Given the description of an element on the screen output the (x, y) to click on. 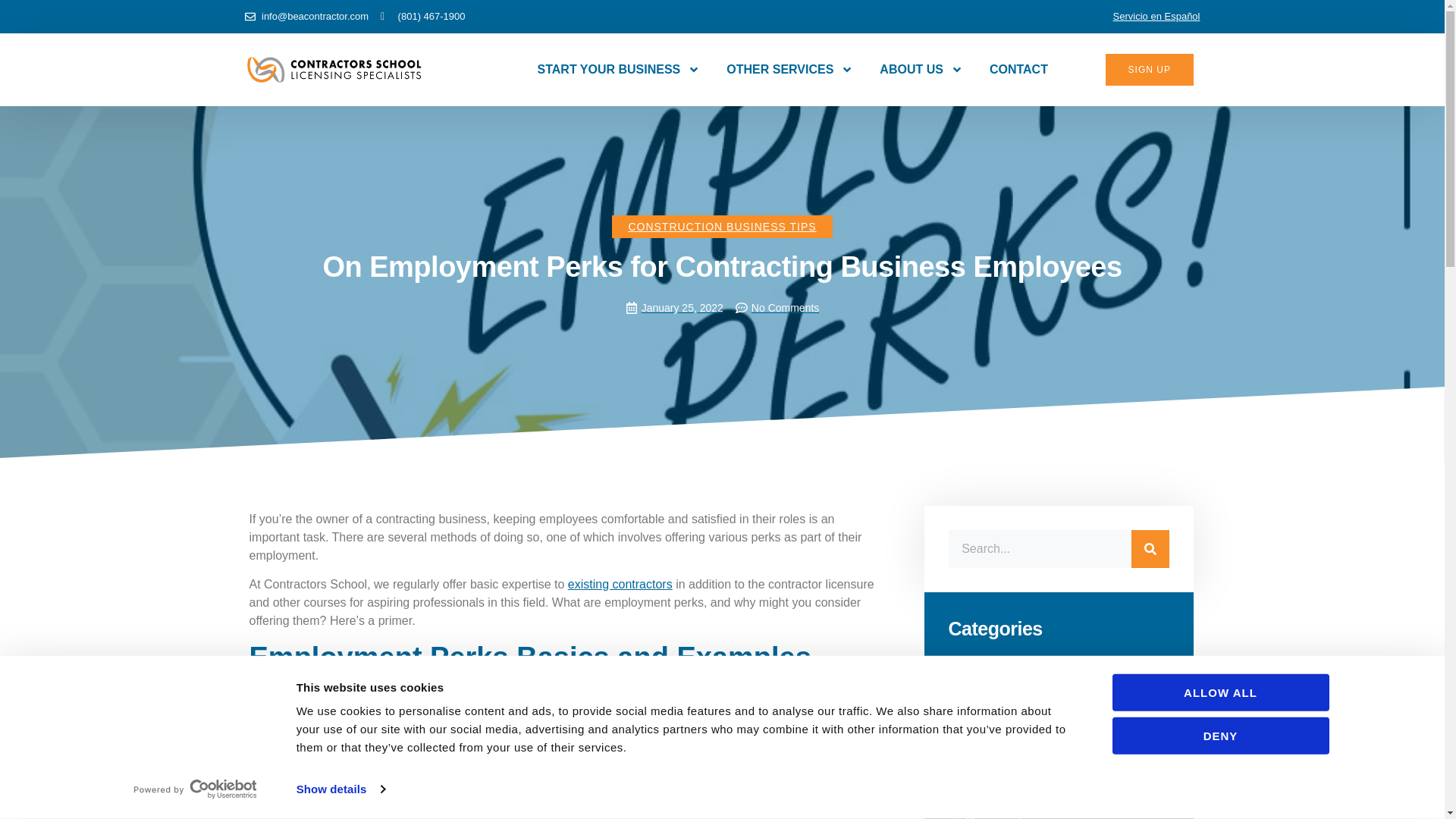
logo (333, 69)
Show details (340, 789)
